Given the description of an element on the screen output the (x, y) to click on. 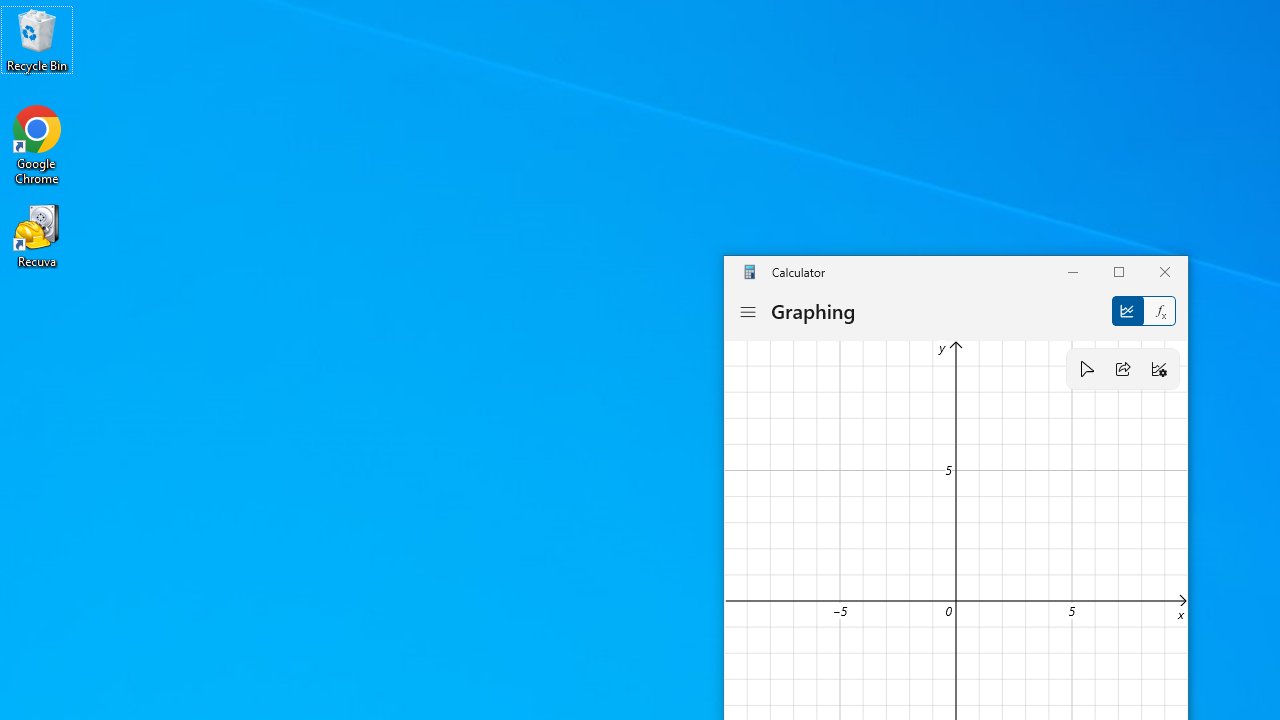
Recycle Bin (37, 39)
Recuva (37, 235)
Google Chrome (37, 144)
